Given the description of an element on the screen output the (x, y) to click on. 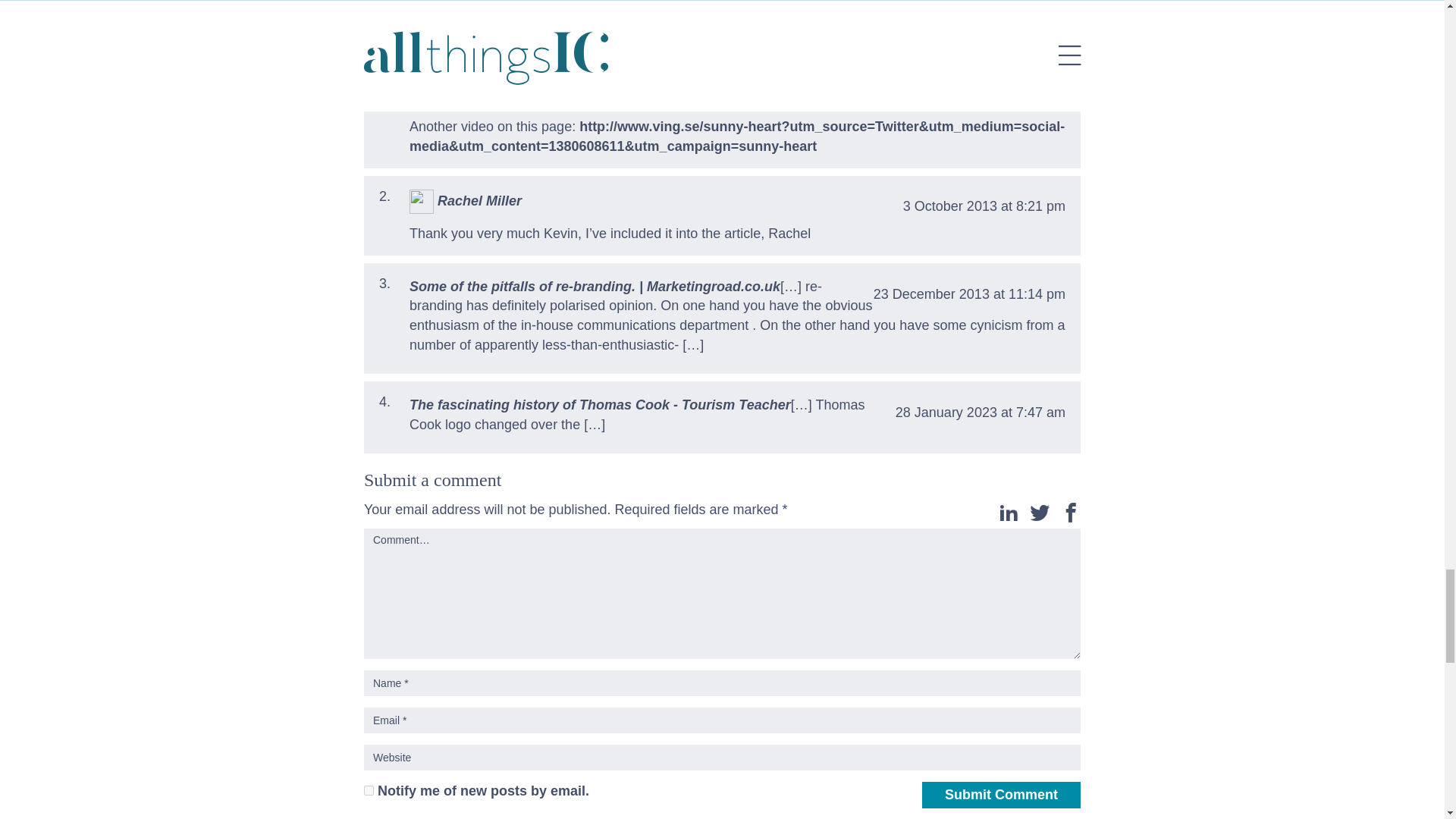
Submit Comment (1000, 795)
subscribe (369, 790)
